Given the description of an element on the screen output the (x, y) to click on. 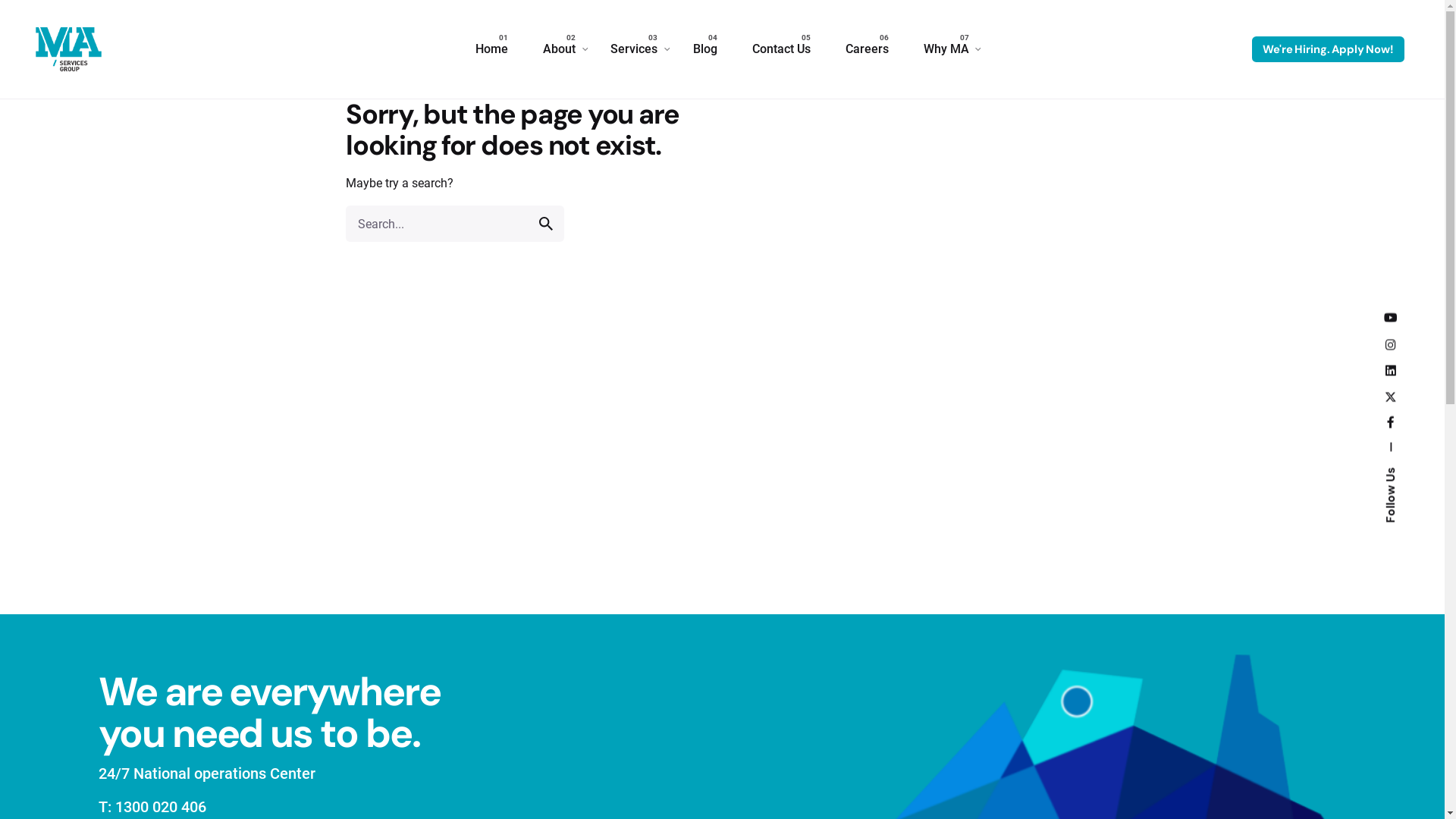
We're Hiring. Apply Now! Element type: text (1327, 49)
Why MA Element type: text (946, 48)
Careers Element type: text (867, 48)
Blog Element type: text (704, 48)
Contact Us Element type: text (781, 48)
Services Element type: text (633, 48)
About Element type: text (559, 48)
Home Element type: text (491, 48)
